Given the description of an element on the screen output the (x, y) to click on. 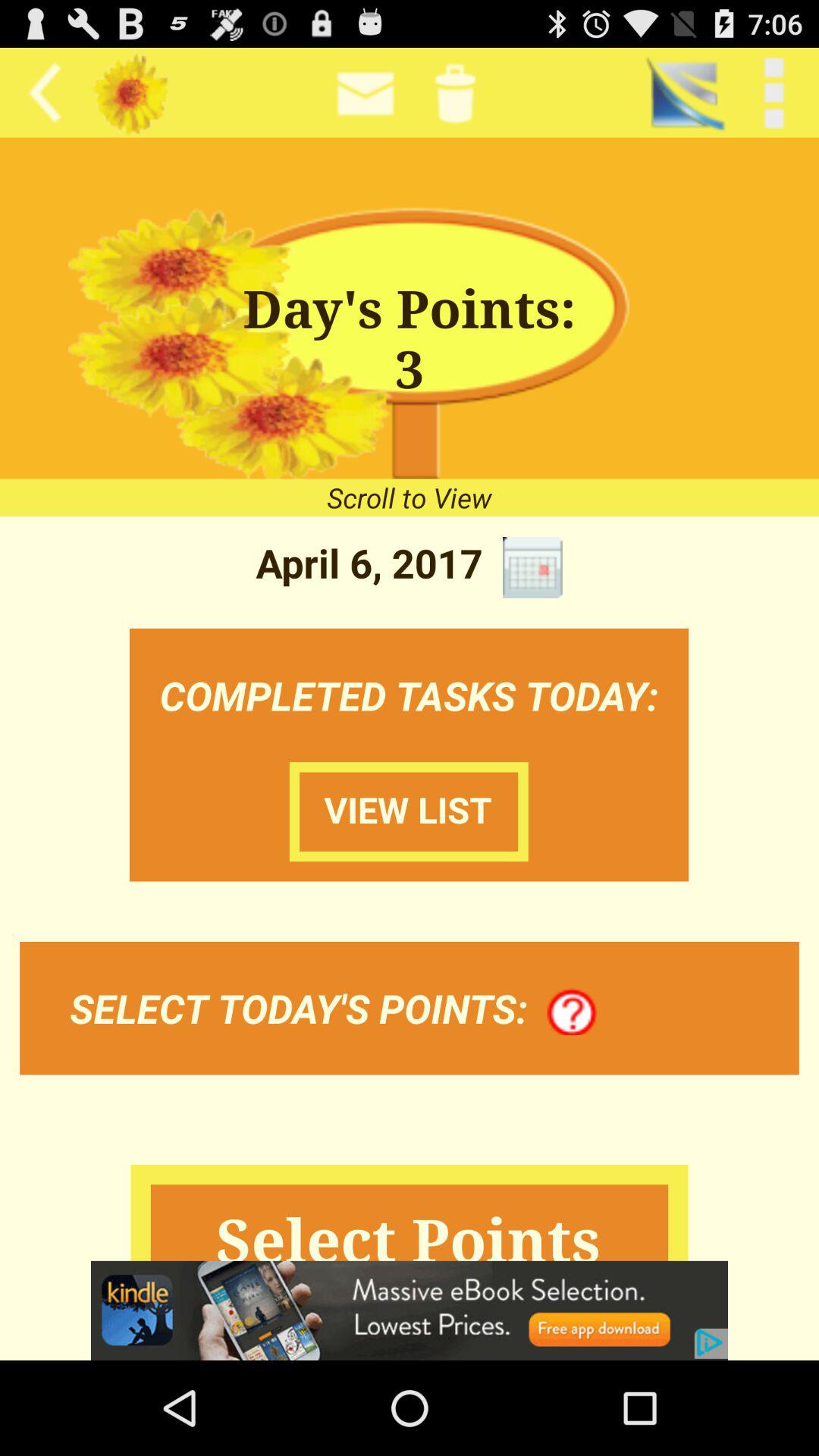
click view list item (408, 811)
